Given the description of an element on the screen output the (x, y) to click on. 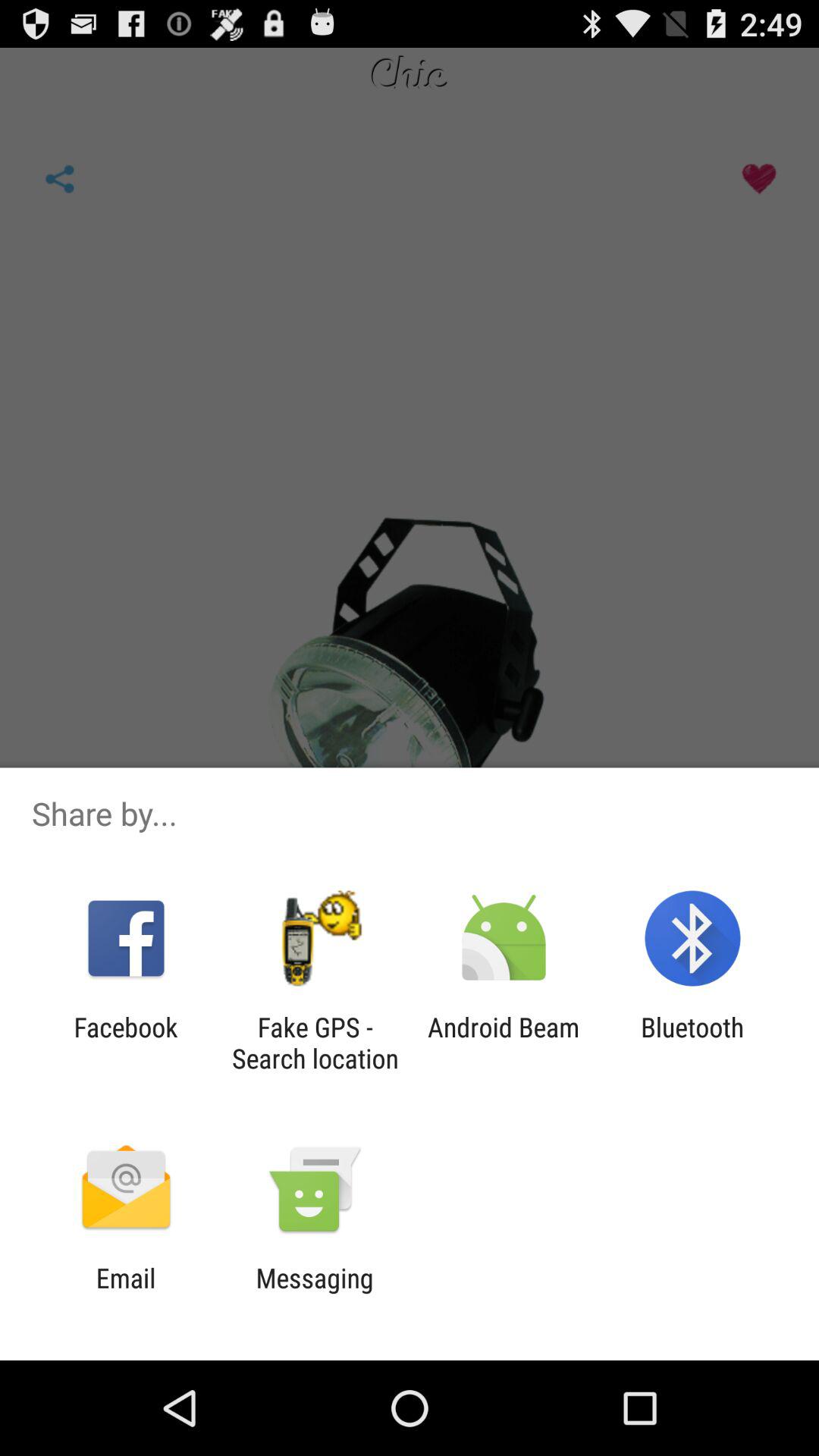
jump to the facebook app (125, 1042)
